Given the description of an element on the screen output the (x, y) to click on. 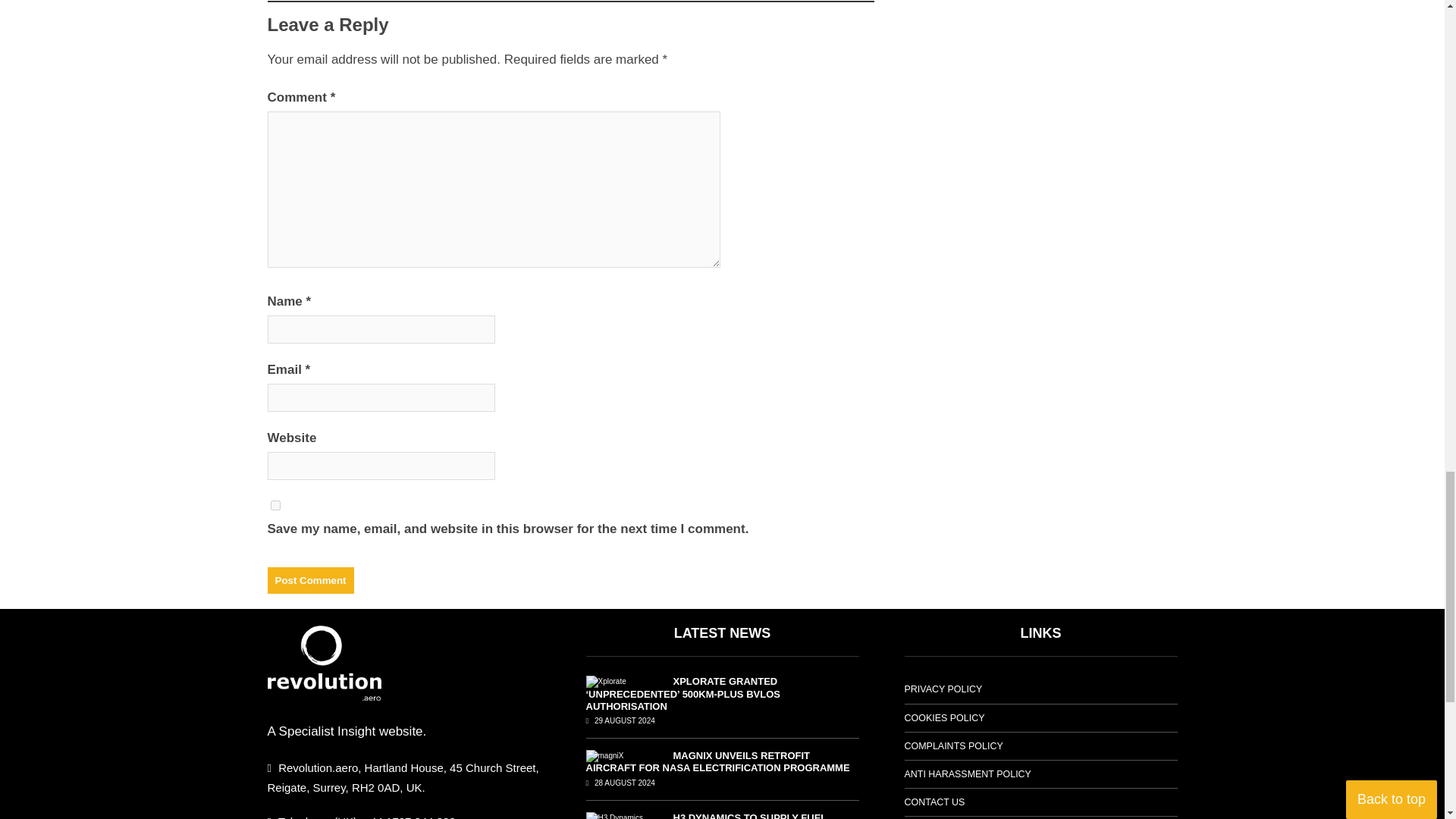
yes (274, 505)
Post Comment (309, 580)
